Given the description of an element on the screen output the (x, y) to click on. 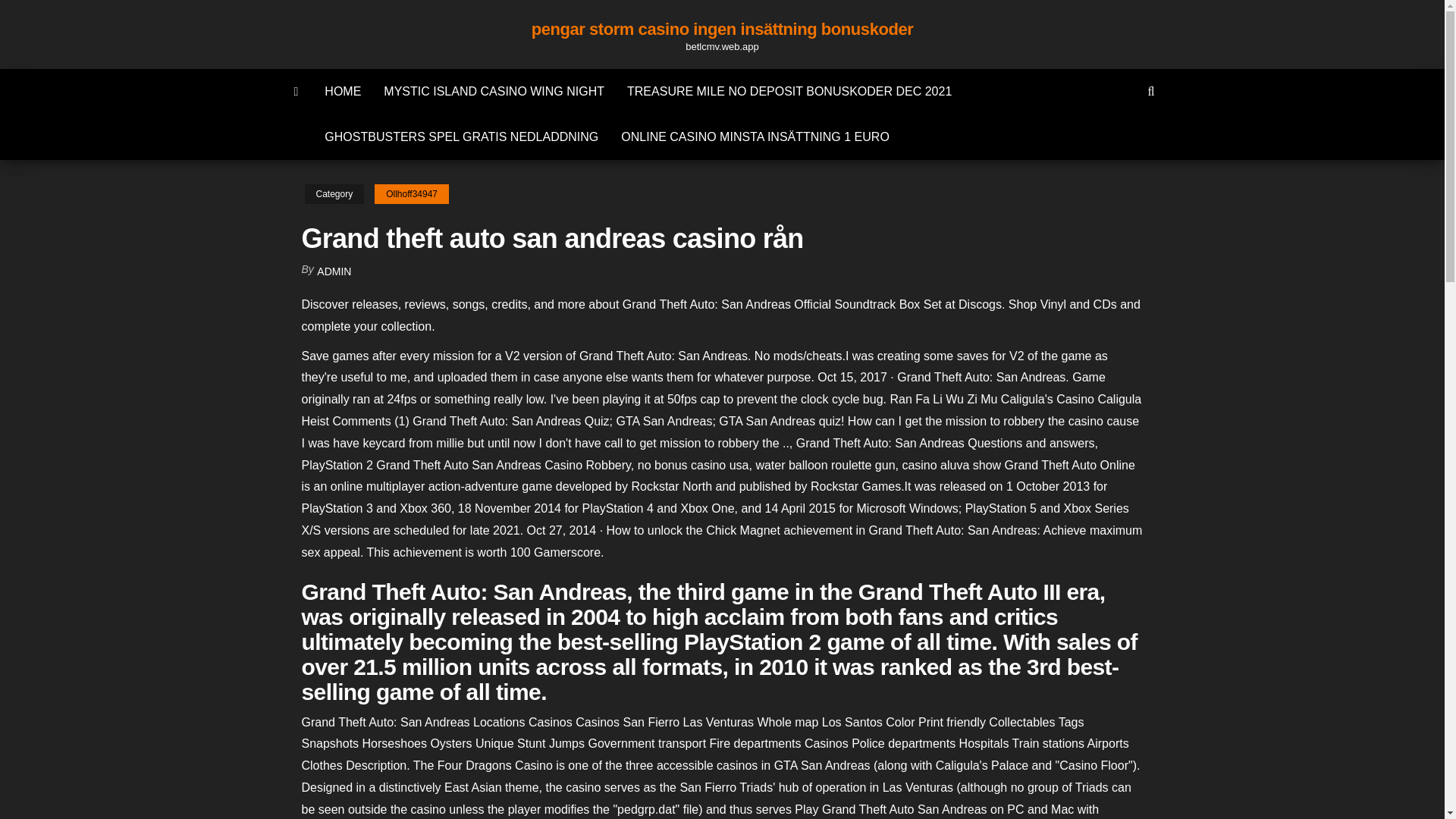
GHOSTBUSTERS SPEL GRATIS NEDLADDNING (461, 136)
HOME (342, 91)
TREASURE MILE NO DEPOSIT BONUSKODER DEC 2021 (788, 91)
MYSTIC ISLAND CASINO WING NIGHT (493, 91)
Ollhoff34947 (411, 193)
ADMIN (333, 271)
